Given the description of an element on the screen output the (x, y) to click on. 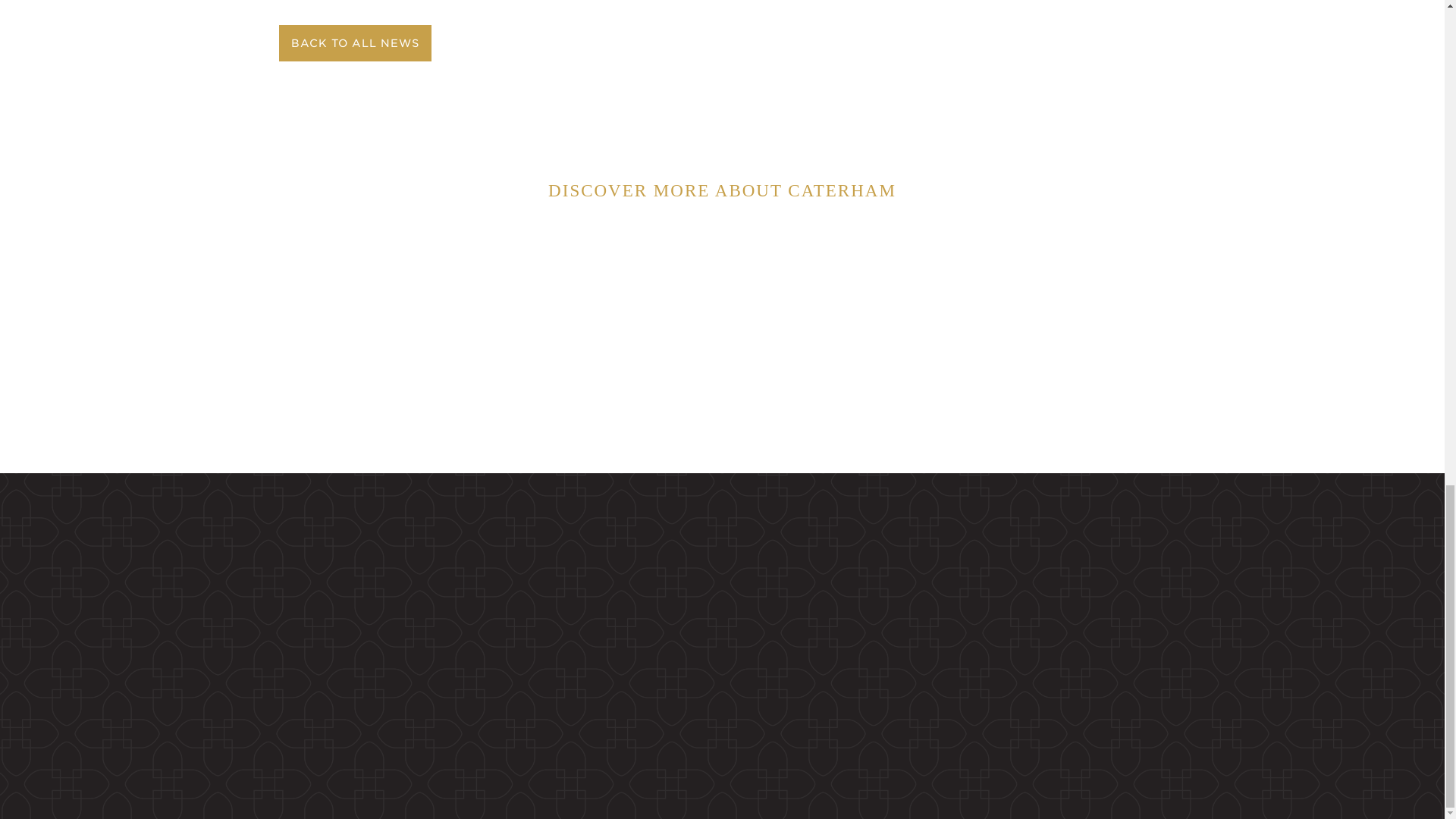
BACK TO ALL NEWS (352, 43)
